Given the description of an element on the screen output the (x, y) to click on. 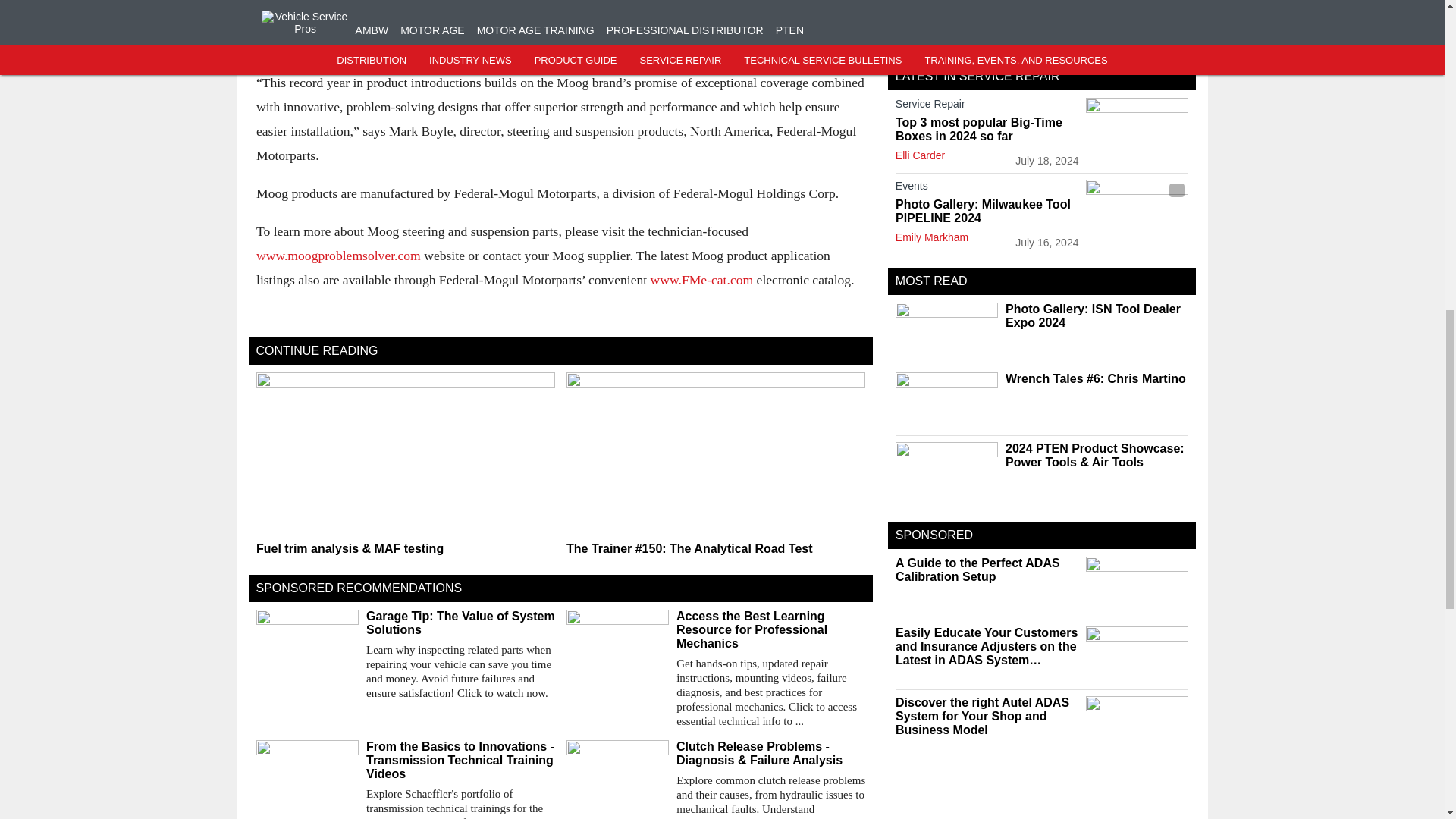
LATEST IN SERVICE REPAIR (977, 75)
www.FMe-cat.com (700, 279)
Service Repair (986, 106)
Garage Tip: The Value of System Solutions (459, 623)
Top 3 most popular Big-Time Boxes in 2024 so far (986, 129)
Access the Best Learning Resource for Professional Mechanics (770, 629)
www.moogproblemsolver.com (338, 255)
